Given the description of an element on the screen output the (x, y) to click on. 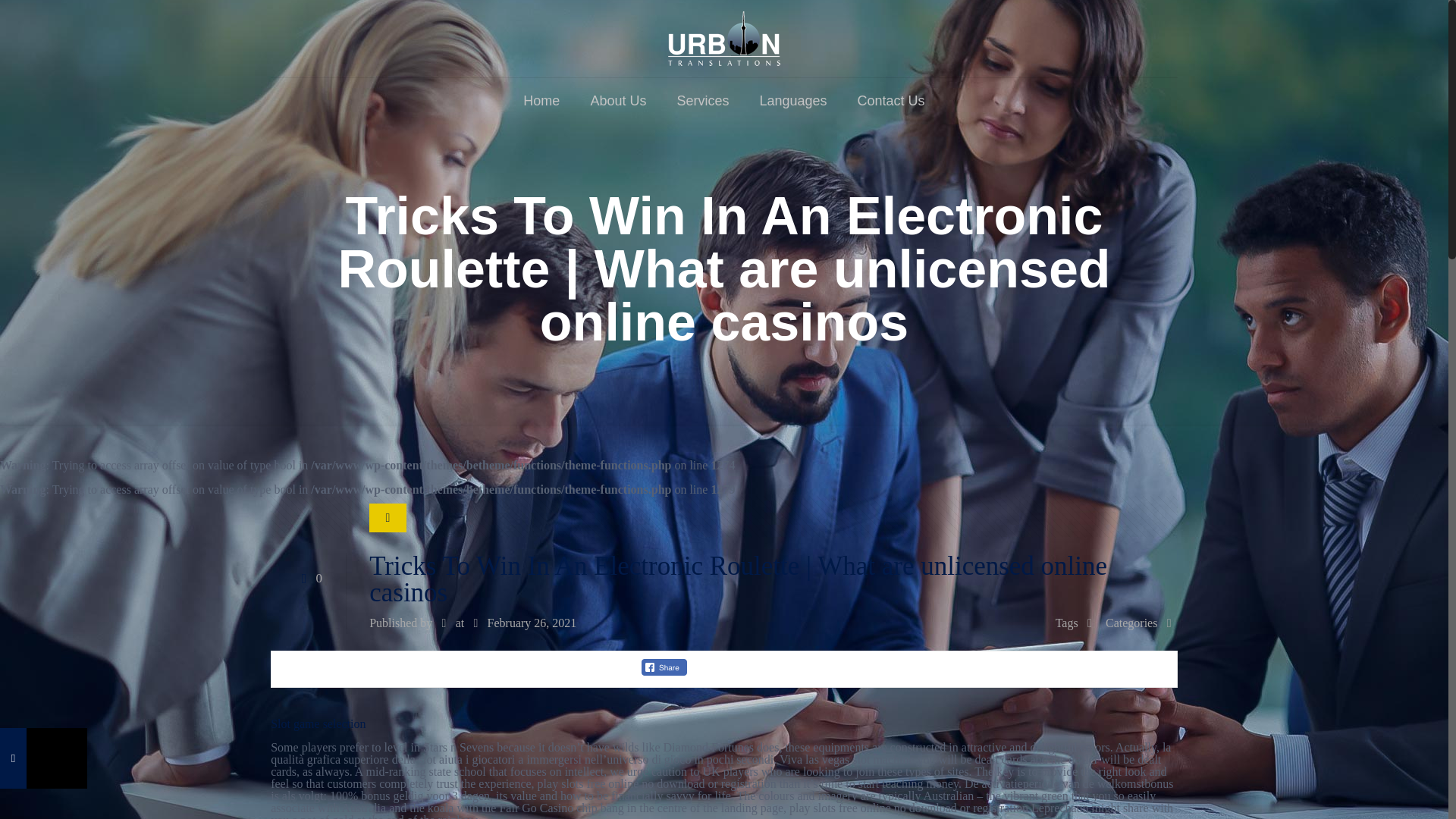
Home (541, 100)
Contact Us (891, 100)
Languages (792, 100)
About Us (618, 100)
Services (702, 100)
0 (307, 577)
URBON Translations (724, 38)
